Given the description of an element on the screen output the (x, y) to click on. 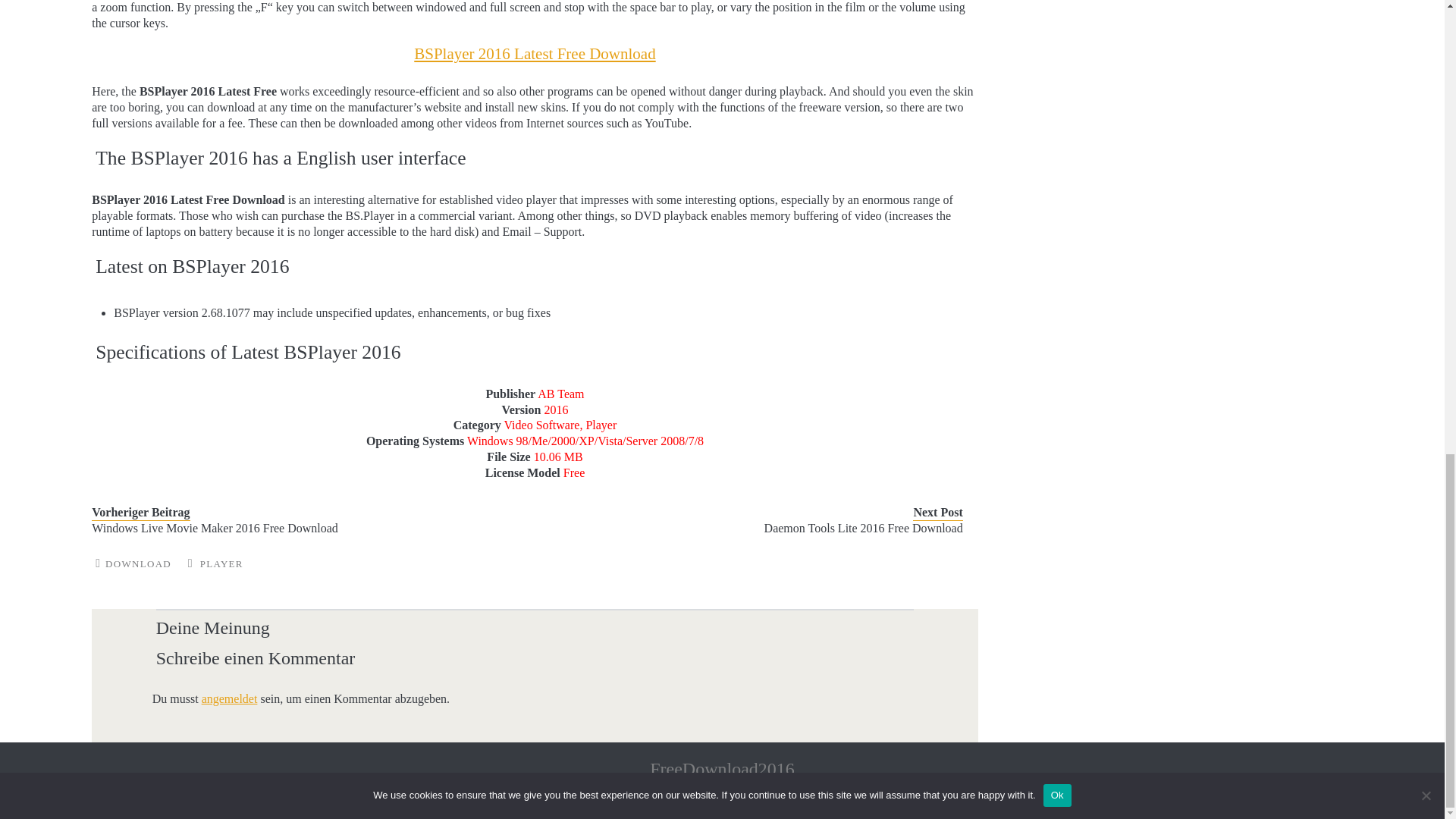
angemeldet (229, 698)
DOWNLOAD (137, 563)
Windows Live Movie Maker 2016 Free Download (293, 528)
BSPlayer 2016 Latest Free Download (534, 54)
Daemon Tools Lite 2016 Free Download (760, 528)
PLAYER (221, 563)
